Given the description of an element on the screen output the (x, y) to click on. 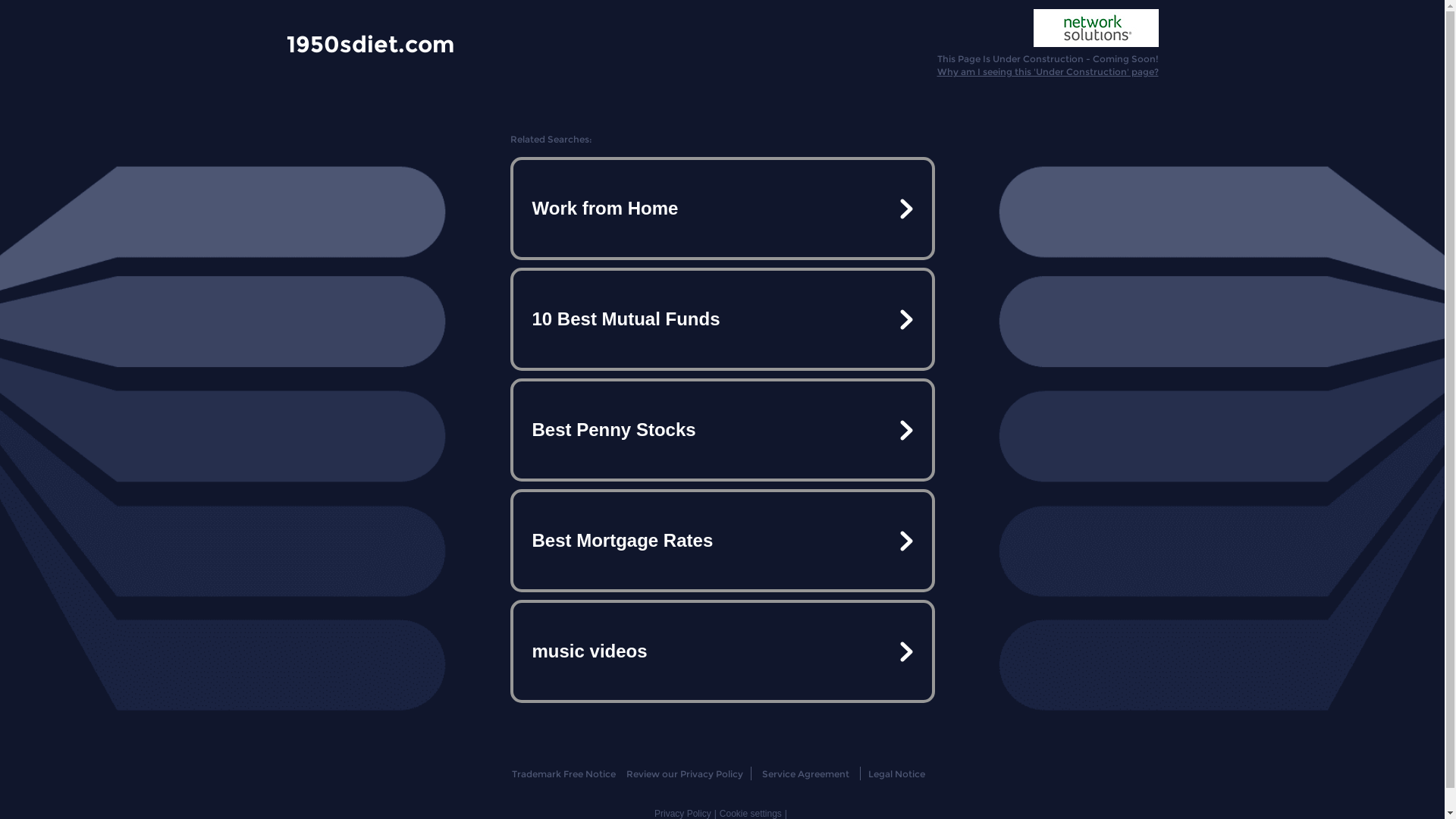
Why am I seeing this 'Under Construction' page? Element type: text (1047, 71)
Best Mortgage Rates Element type: text (721, 540)
Best Penny Stocks Element type: text (721, 429)
Work from Home Element type: text (721, 208)
music videos Element type: text (721, 650)
10 Best Mutual Funds Element type: text (721, 318)
Legal Notice Element type: text (896, 773)
Service Agreement Element type: text (805, 773)
1950sdiet.com Element type: text (370, 43)
Review our Privacy Policy Element type: text (684, 773)
Trademark Free Notice Element type: text (563, 773)
